Given the description of an element on the screen output the (x, y) to click on. 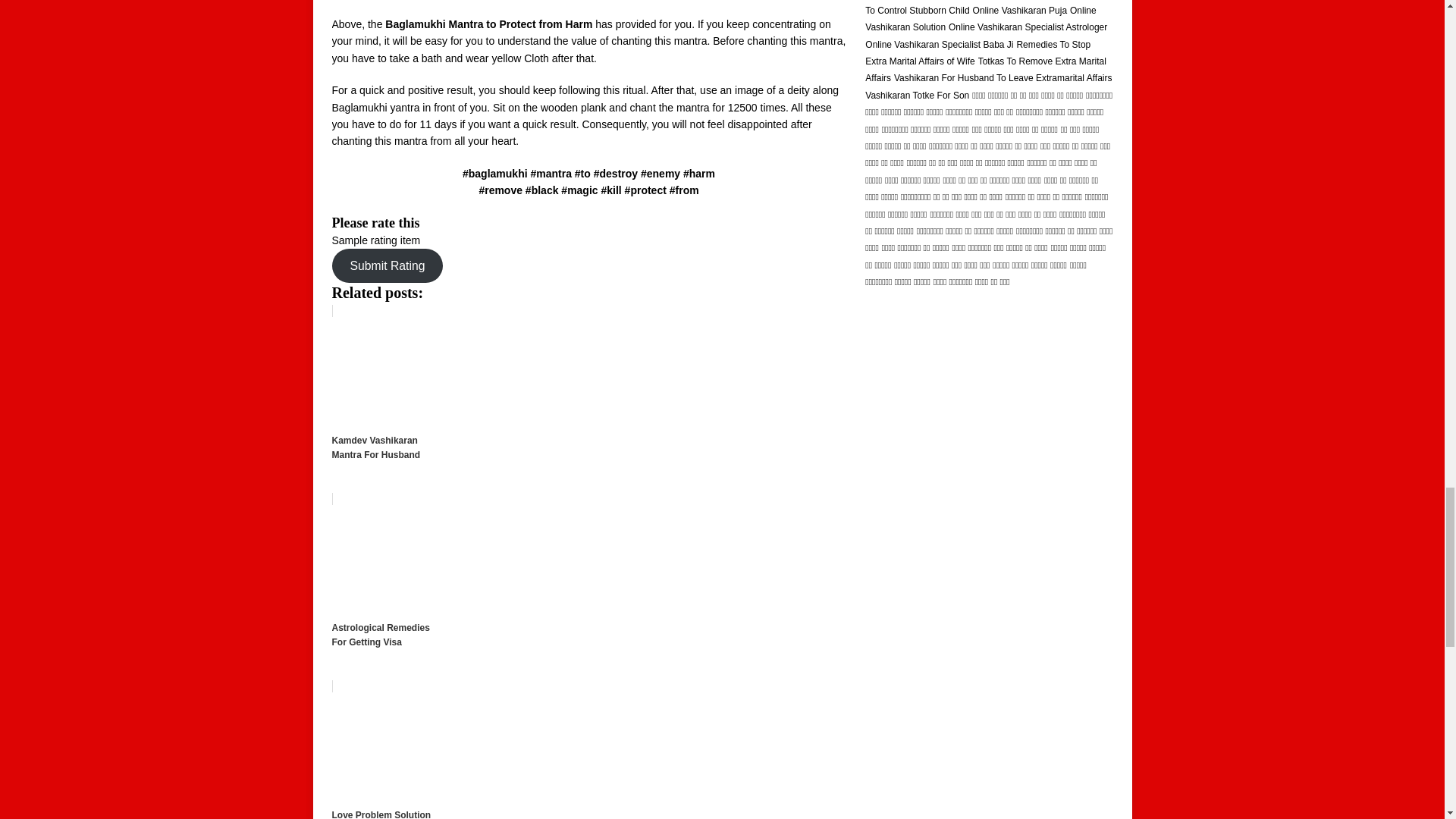
Love Problem Solution Baba Ji In Mumbai (588, 749)
Submit Rating (387, 265)
Submit Rating (387, 265)
Astrological Remedies For Getting Visa (588, 592)
Kamdev Vashikaran Mantra For Husband (588, 404)
